Given the description of an element on the screen output the (x, y) to click on. 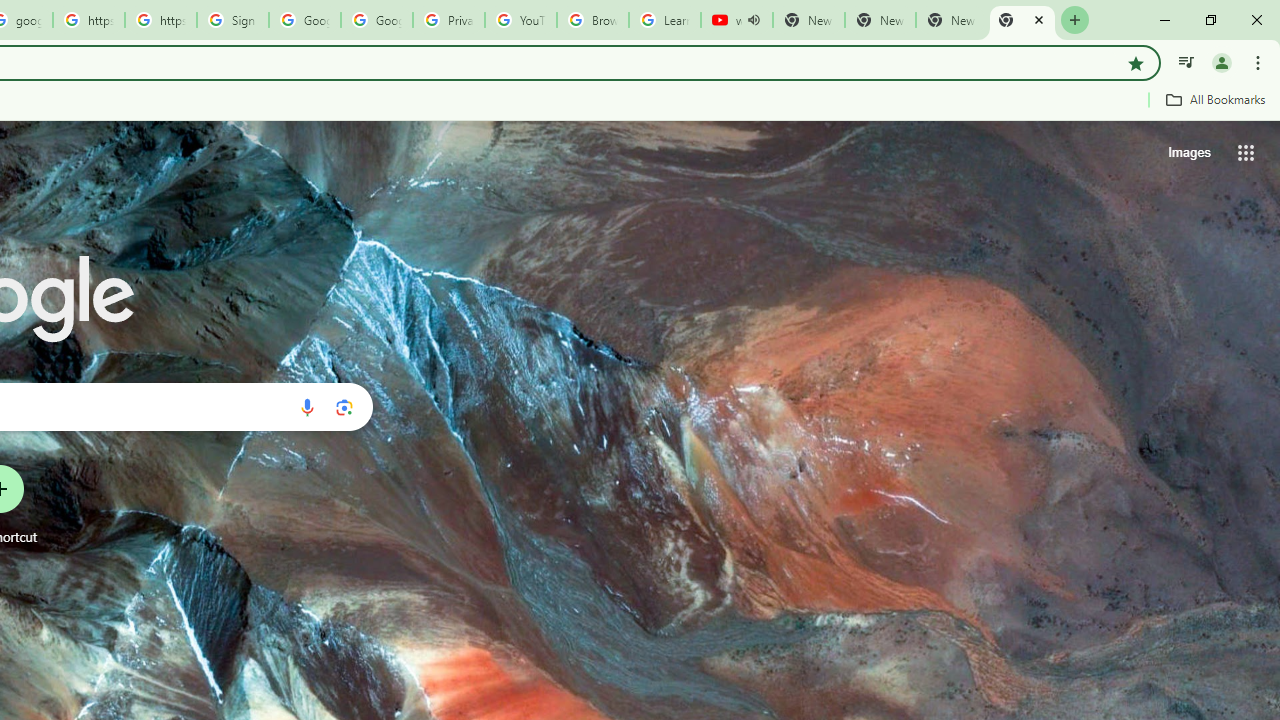
YouTube (520, 20)
Sign in - Google Accounts (232, 20)
